Given the description of an element on the screen output the (x, y) to click on. 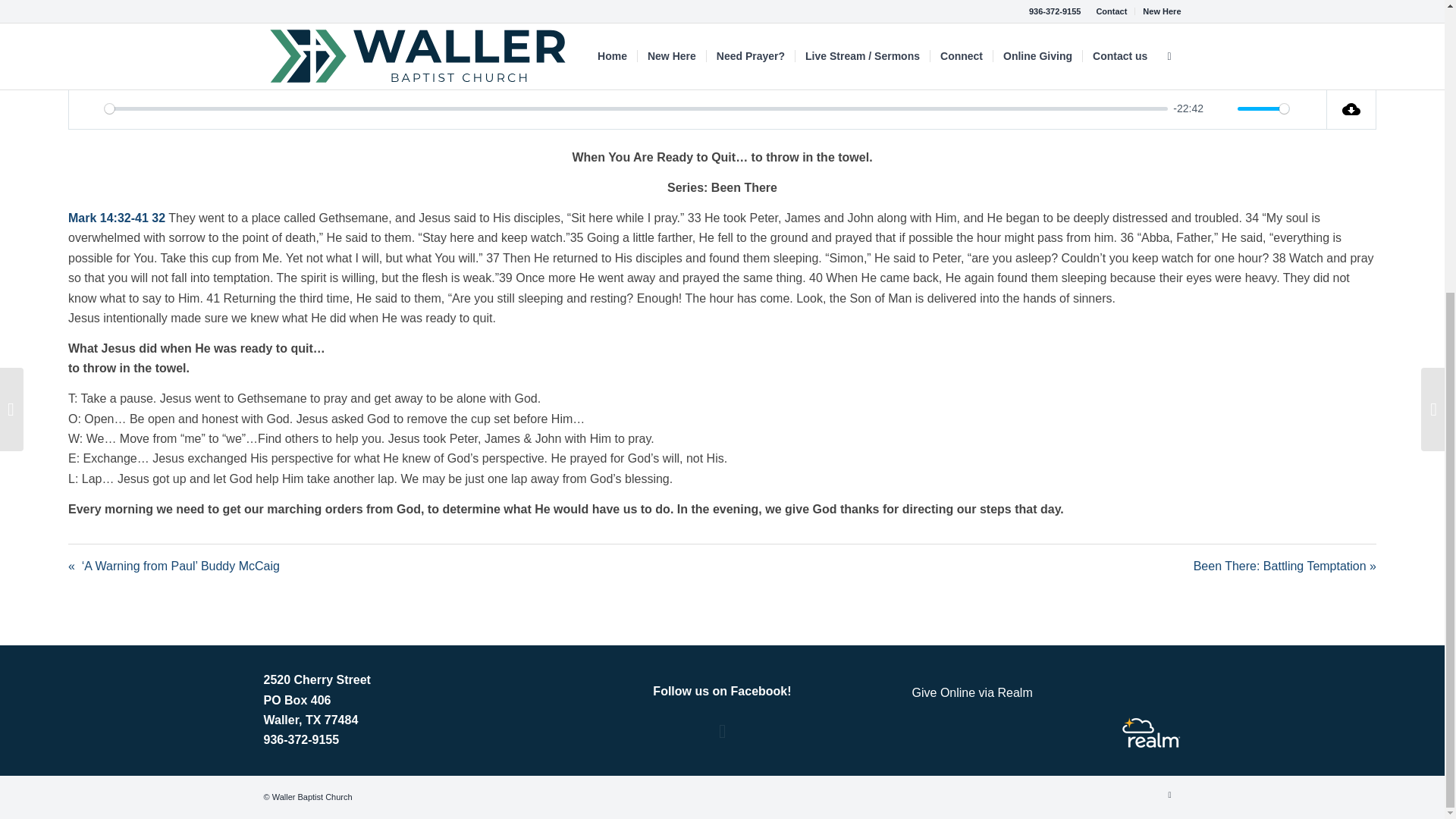
Facebook (1169, 793)
Settings (1306, 109)
Mute (1220, 109)
Download Audio File (1350, 108)
Play (88, 109)
32 (158, 217)
Realm Logo (1150, 732)
0 (635, 108)
1 (1262, 108)
Mark 14:32-41 (108, 217)
